Given the description of an element on the screen output the (x, y) to click on. 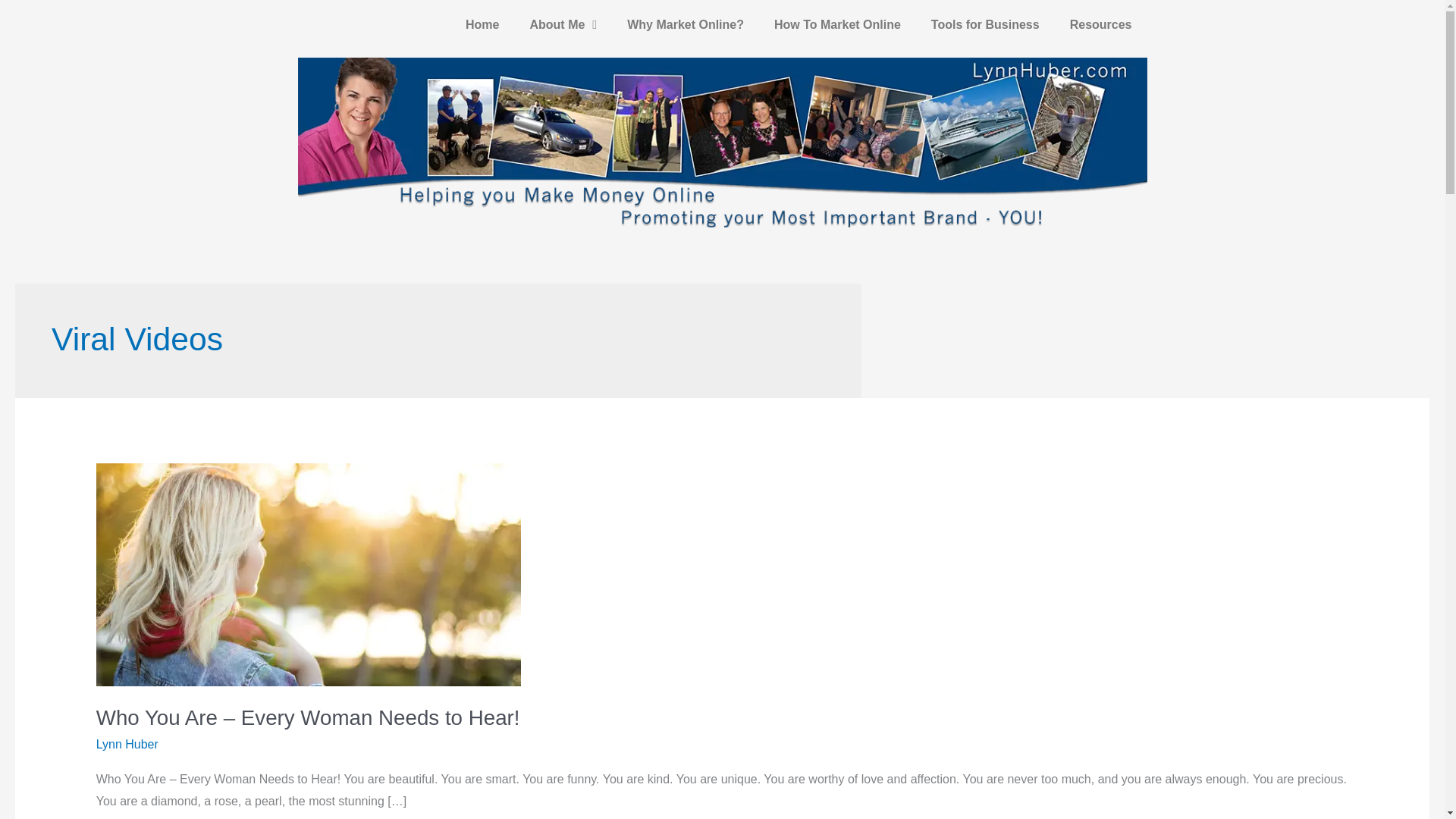
How To Market Online (836, 24)
About Me (562, 24)
Why Market Online? (684, 24)
Home (481, 24)
Tools for Business (984, 24)
Resources (1100, 24)
Lynn Huber (127, 744)
View all posts by Lynn Huber (127, 744)
